Given the description of an element on the screen output the (x, y) to click on. 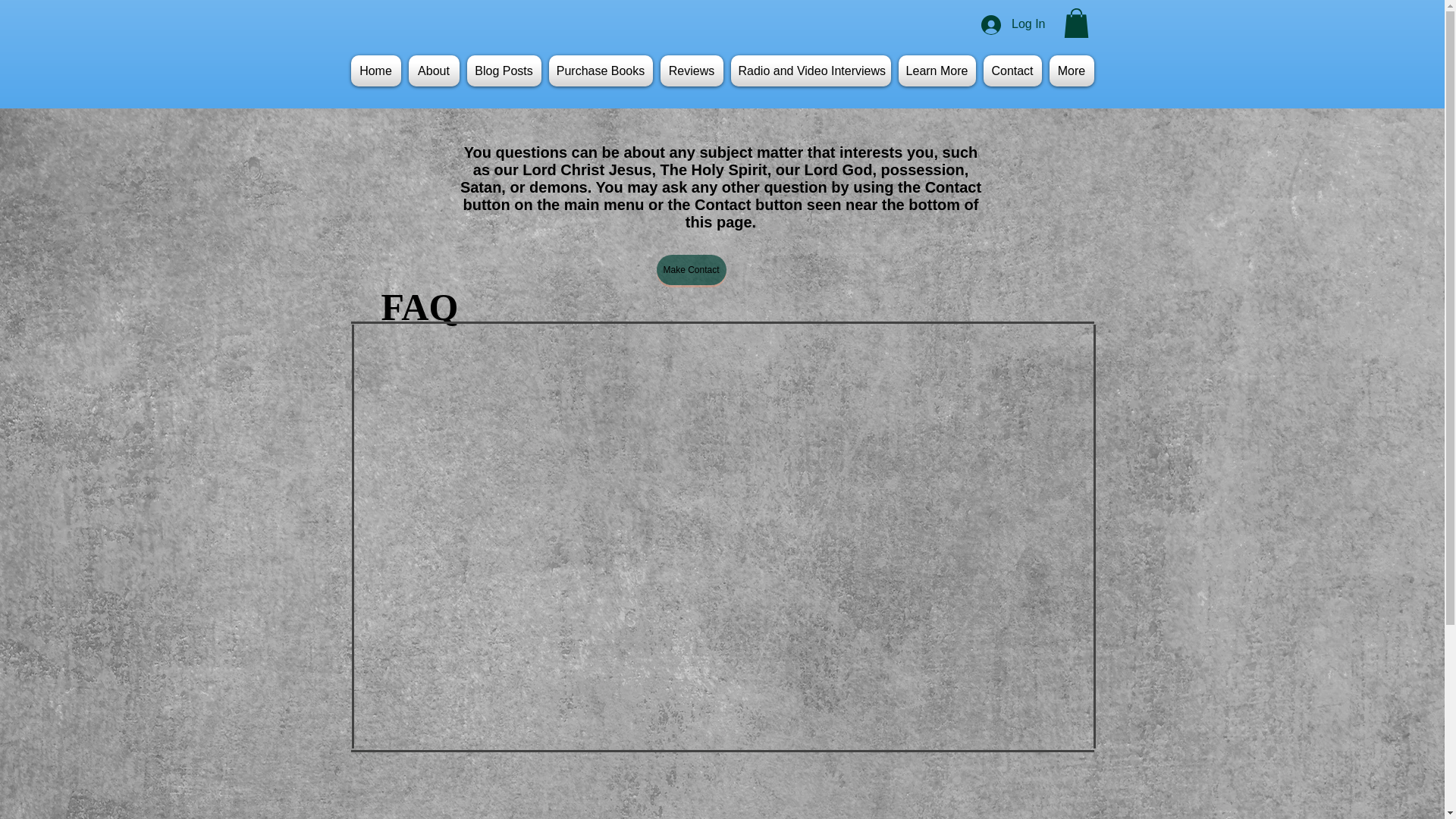
Reviews (691, 70)
Contact (1012, 70)
Make Contact (691, 269)
Blog Posts (503, 70)
Radio and Video Interviews (809, 70)
About (433, 70)
Home (377, 70)
Log In (1013, 24)
Purchase Books (600, 70)
